Given the description of an element on the screen output the (x, y) to click on. 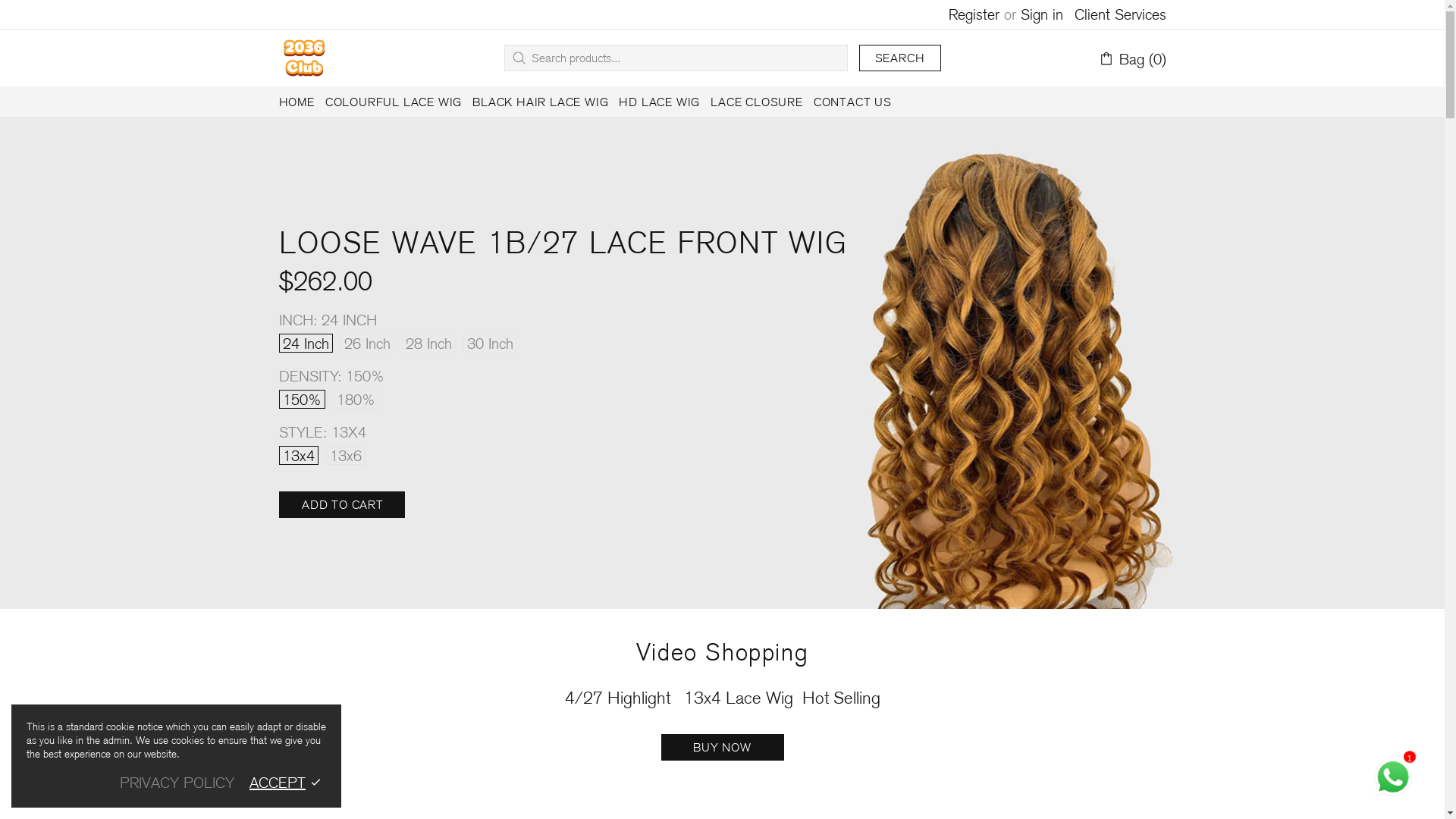
Sign in Element type: text (1041, 14)
Register Element type: text (972, 14)
Bag (0) Element type: text (1131, 57)
LACE CLOSURE Element type: text (756, 101)
Client Services Element type: text (1119, 14)
BUY NOW Element type: text (722, 747)
PRIVACY POLICY Element type: text (176, 781)
CONTACT US Element type: text (852, 101)
ADD TO CART Element type: text (342, 504)
HD LACE WIG Element type: text (659, 101)
HOME Element type: text (296, 101)
BLACK HAIR LACE WIG Element type: text (540, 101)
2036 Club Element type: text (304, 58)
COLOURFUL LACE WIG Element type: text (393, 101)
Video Shopping Element type: text (722, 652)
SEARCH Element type: text (900, 57)
LOOSE WAVE 1B/27 LACE FRONT WIG Element type: text (563, 243)
